Given the description of an element on the screen output the (x, y) to click on. 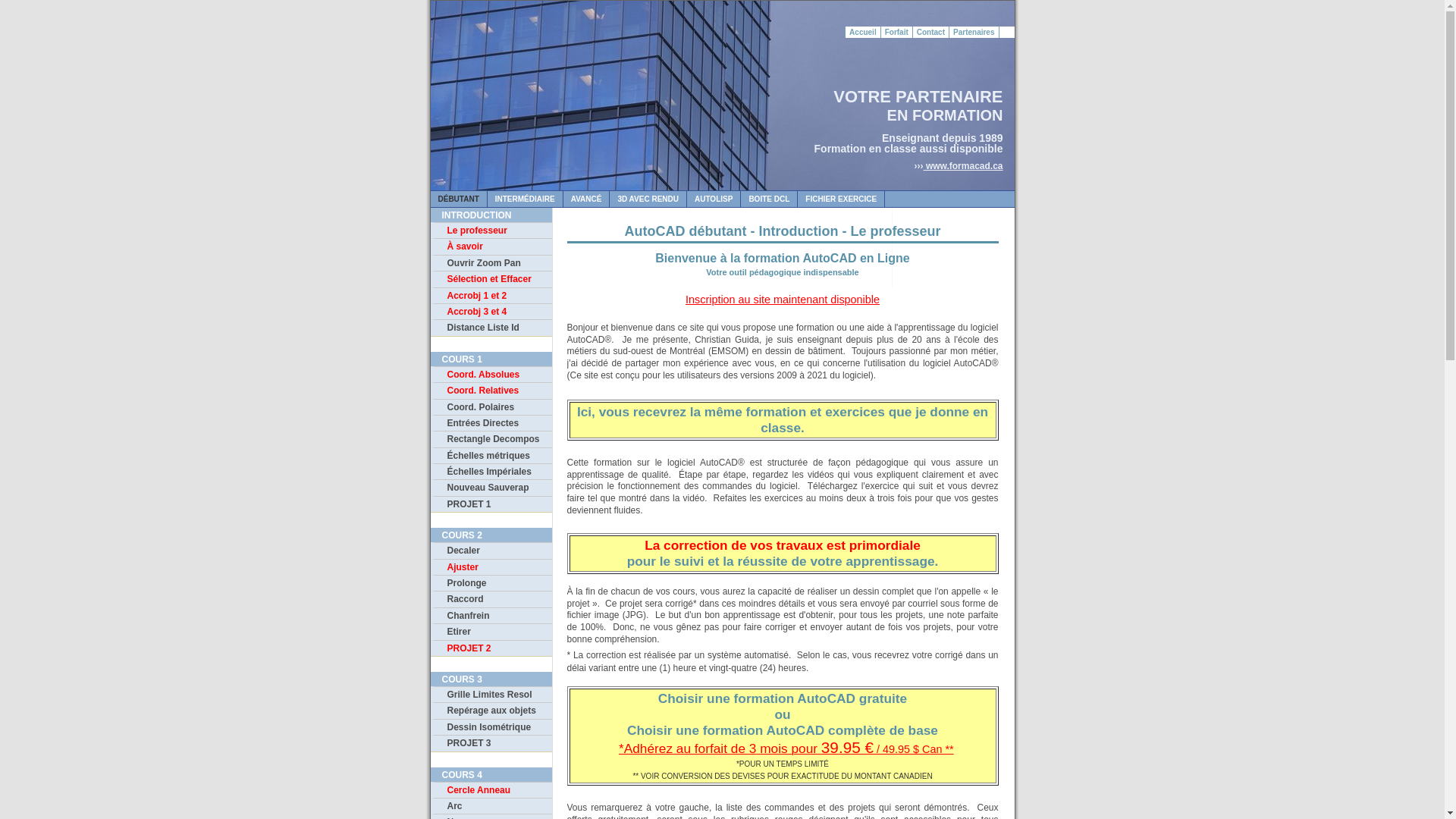
Forfait Element type: text (897, 31)
Chanfrein Element type: text (491, 615)
PROJET 1 Element type: text (491, 503)
PROJET 2 Element type: text (491, 647)
Ajuster Element type: text (491, 566)
AUTOLISP Element type: text (713, 199)
Prolonge Element type: text (491, 582)
Coord. Relatives Element type: text (491, 390)
Accueil Element type: text (863, 31)
Accrobj 3 et 4 Element type: text (491, 311)
www.formacad.ca Element type: text (963, 165)
BOITE DCL Element type: text (768, 199)
PROJET 3 Element type: text (491, 742)
FICHIER EXERCICE Element type: text (840, 199)
Coord. Polaires Element type: text (491, 406)
Arc Element type: text (491, 805)
Coord. Absolues Element type: text (491, 374)
3D AVEC RENDU Element type: text (648, 199)
Accrobj 1 et 2 Element type: text (491, 295)
Cercle Anneau Element type: text (491, 789)
Decaler Element type: text (491, 550)
Distance Liste Id Element type: text (491, 327)
Le professeur Element type: text (491, 230)
Etirer Element type: text (491, 631)
Raccord Element type: text (491, 598)
Ouvrir Zoom Pan Element type: text (491, 262)
Contact Element type: text (931, 31)
Nouveau Sauverap Element type: text (491, 487)
Grille Limites Resol Element type: text (491, 694)
Partenaires Element type: text (973, 31)
Rectangle Decompos Element type: text (491, 438)
Inscription au site maintenant disponible Element type: text (782, 299)
